Given the description of an element on the screen output the (x, y) to click on. 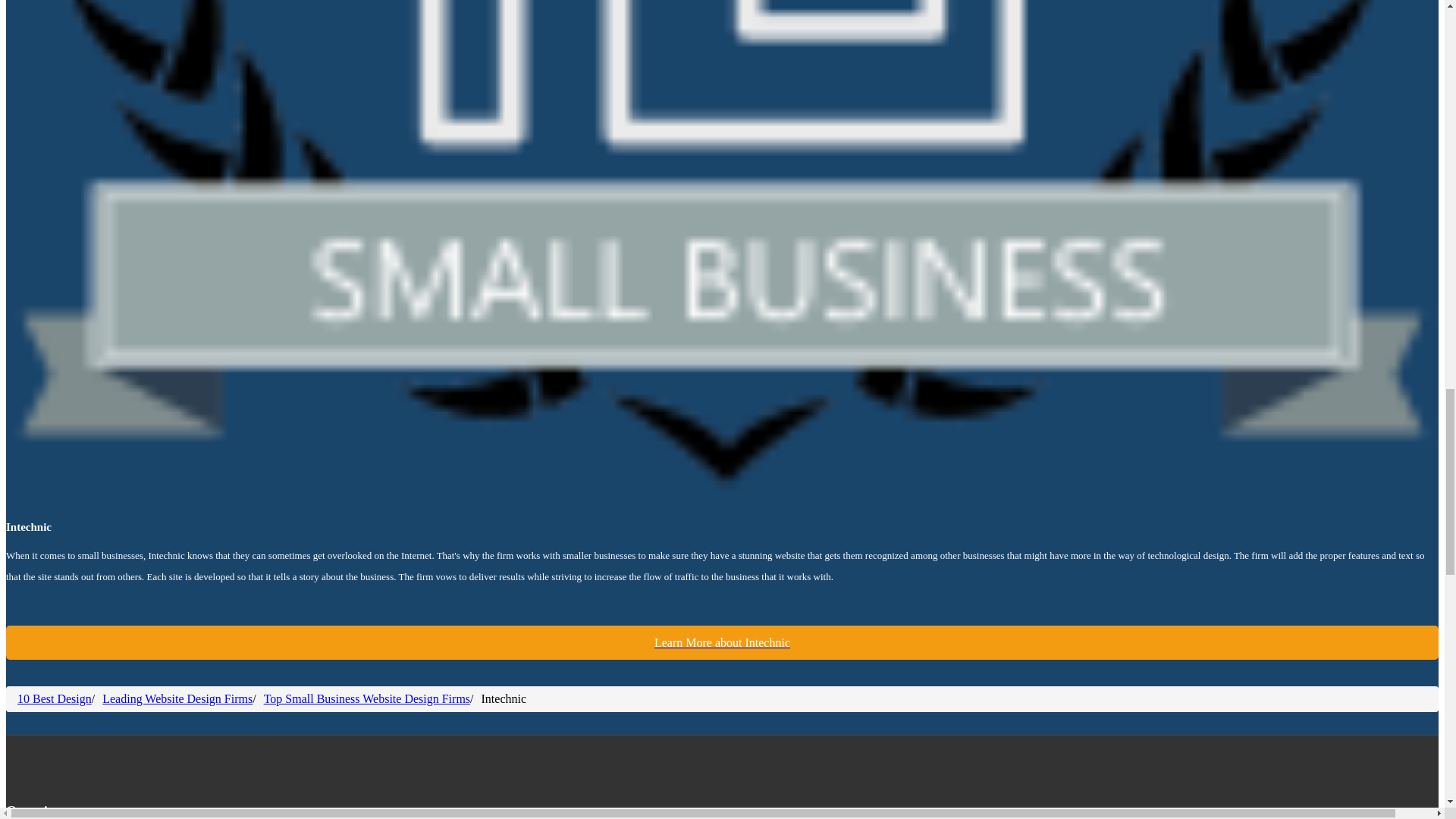
Intechnic (721, 642)
